Given the description of an element on the screen output the (x, y) to click on. 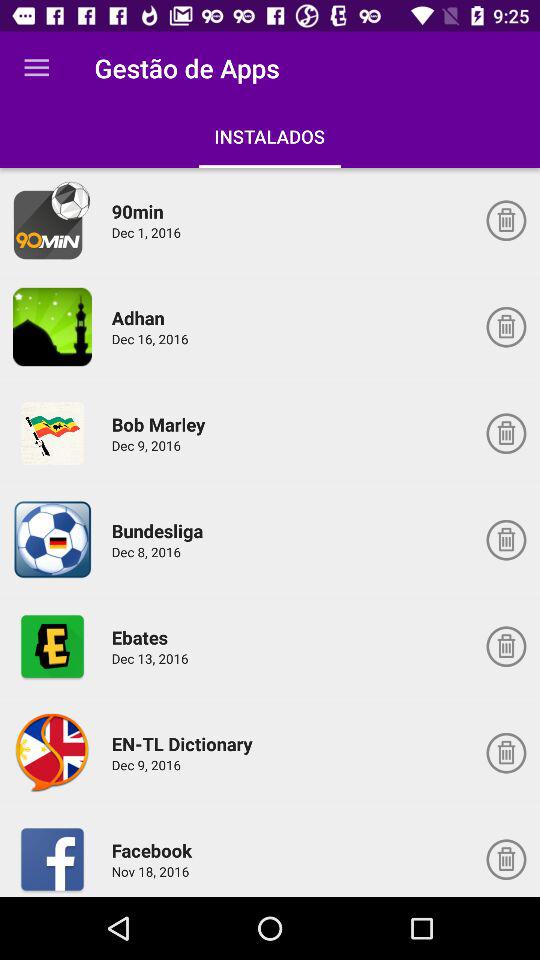
tap the item above the dec 16, 2016 item (141, 317)
